Given the description of an element on the screen output the (x, y) to click on. 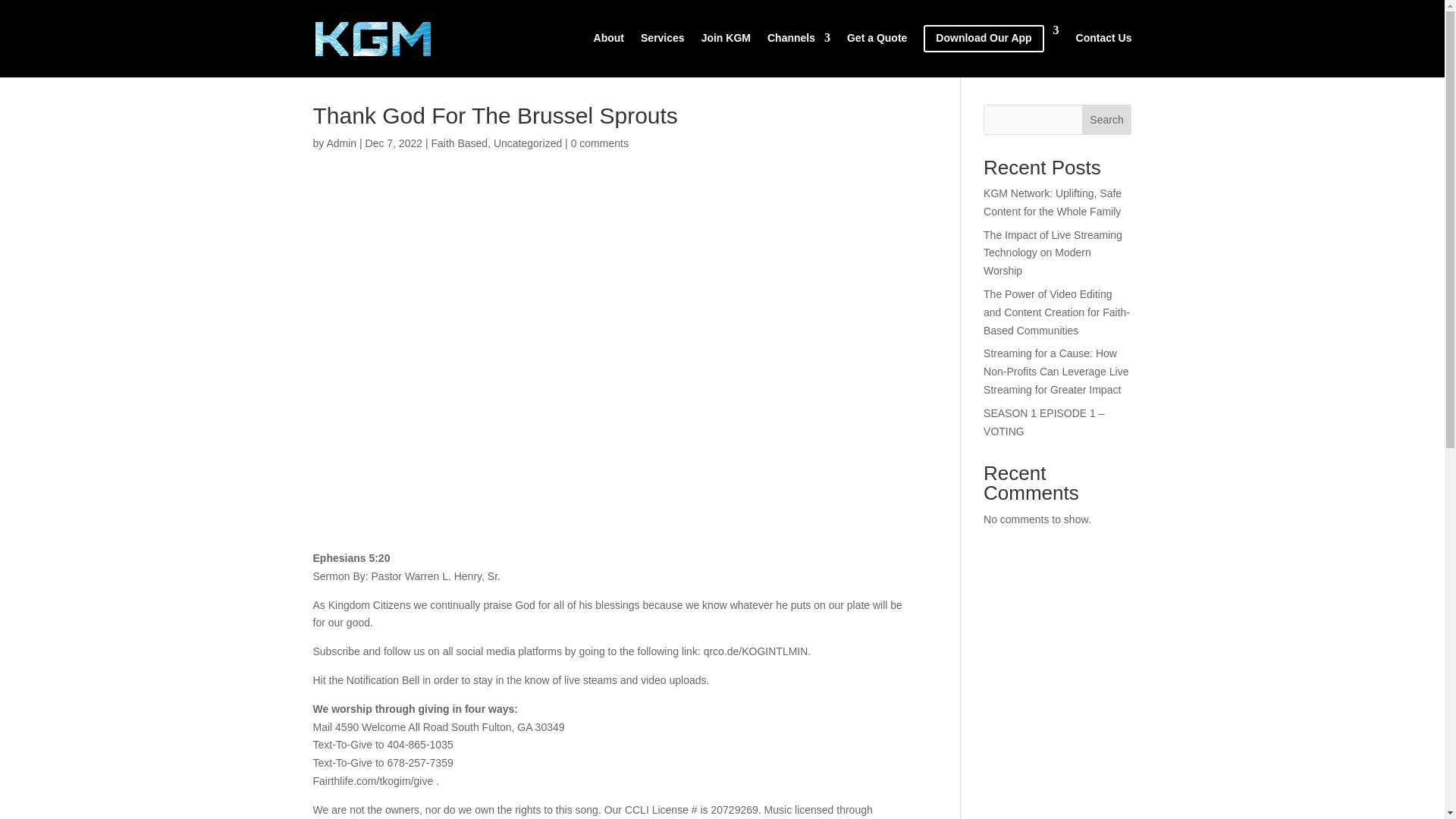
Join KGM (726, 49)
Posts by Admin (341, 143)
Channels (798, 49)
Services (662, 49)
Get a Quote (877, 49)
Contact Us (1103, 49)
Download Our App (990, 50)
